Given the description of an element on the screen output the (x, y) to click on. 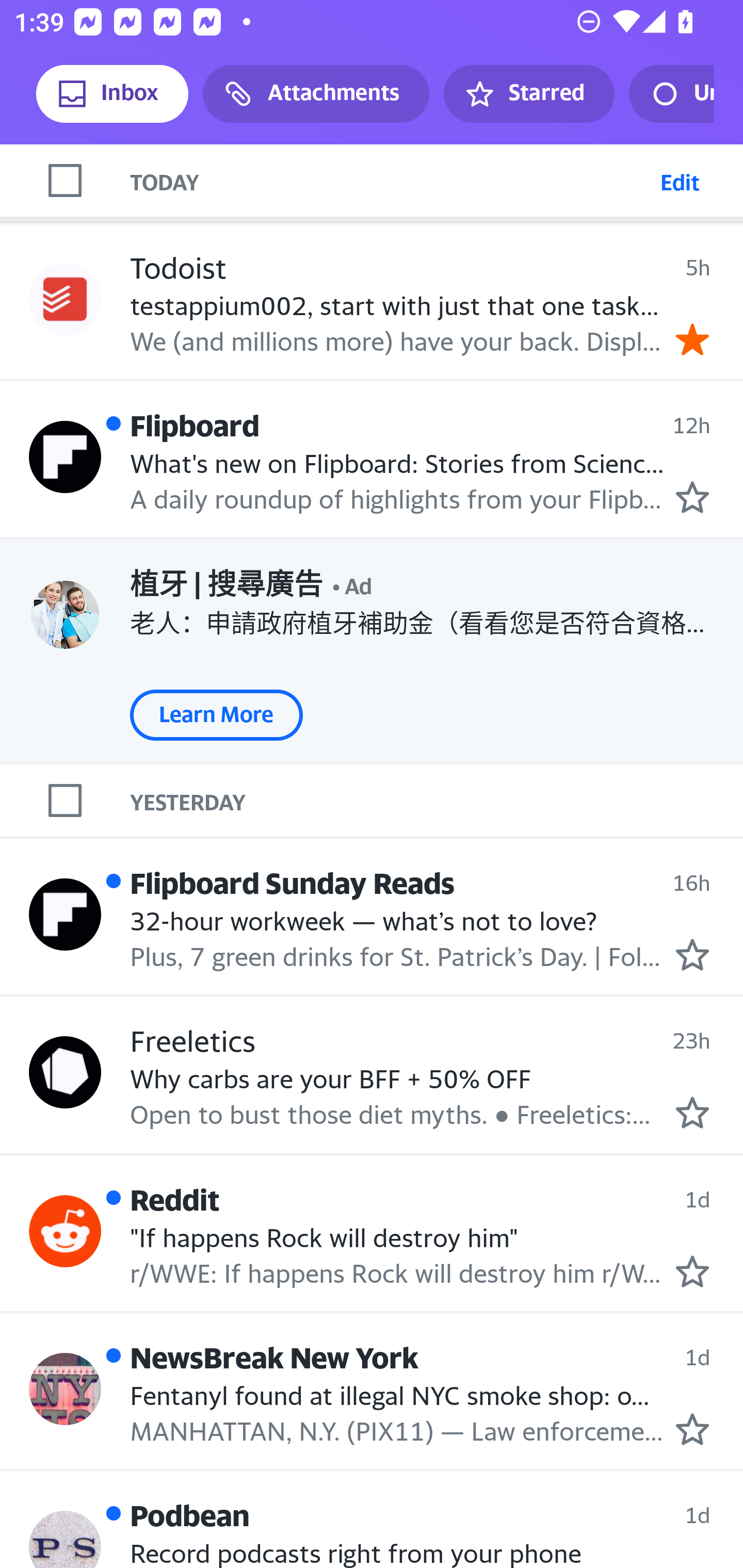
Attachments (315, 93)
Starred (528, 93)
Profile
Todoist (64, 299)
Remove star. (692, 339)
Profile
Flipboard (64, 456)
Mark as starred. (692, 497)
YESTERDAY (436, 800)
Profile
Flipboard Sunday Reads (64, 914)
Mark as starred. (692, 954)
Profile
Freeletics (64, 1072)
Mark as starred. (692, 1112)
Profile
Reddit (64, 1230)
Mark as starred. (692, 1270)
Profile
NewsBreak New York (64, 1389)
Mark as starred. (692, 1429)
Profile
Podbean (64, 1538)
